Given the description of an element on the screen output the (x, y) to click on. 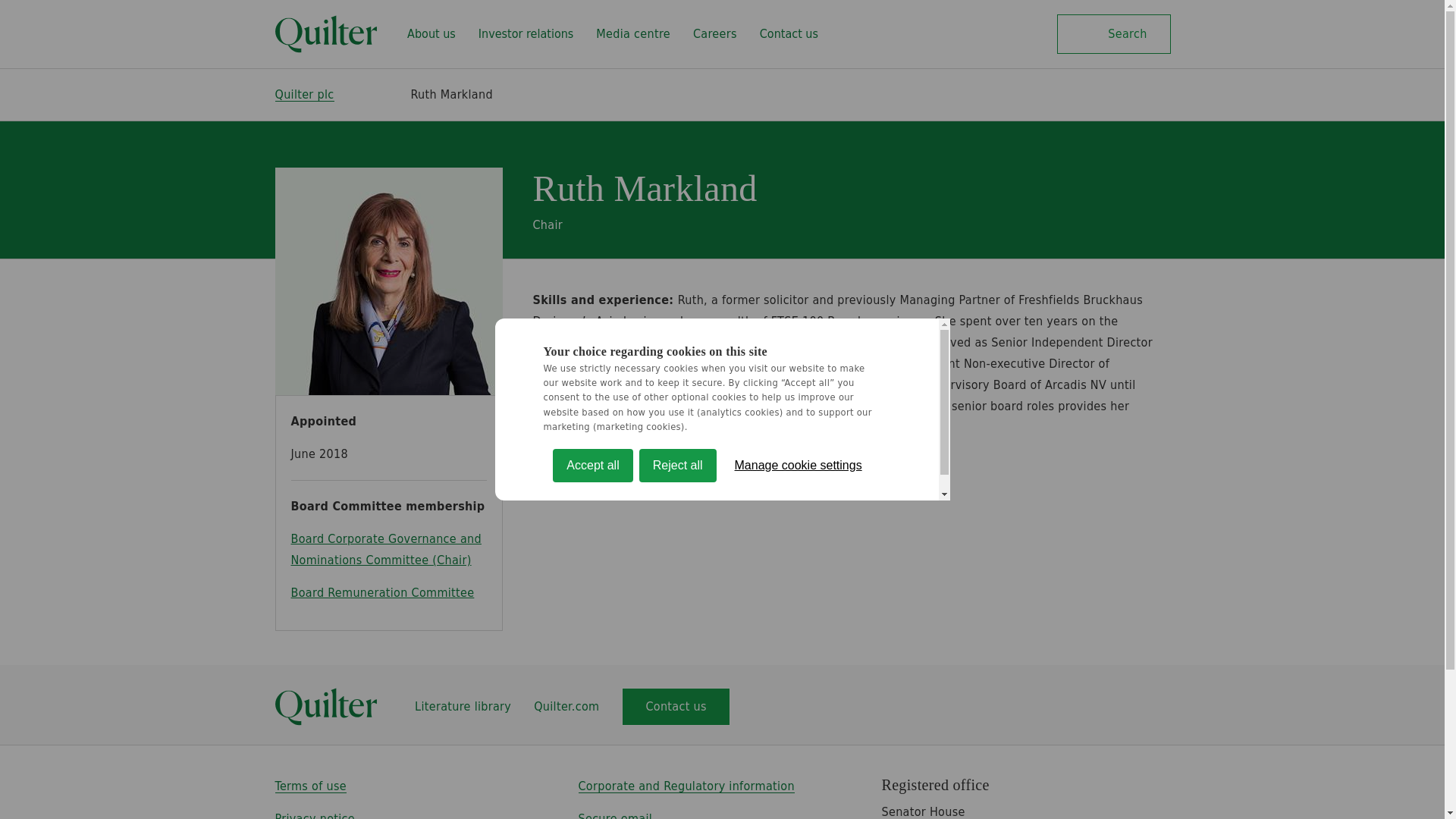
Search (1113, 34)
Manage cookie settings (798, 701)
Homepage (326, 34)
About us (431, 34)
Investor relations (526, 34)
Reject all (677, 710)
Accept all (592, 731)
